Given the description of an element on the screen output the (x, y) to click on. 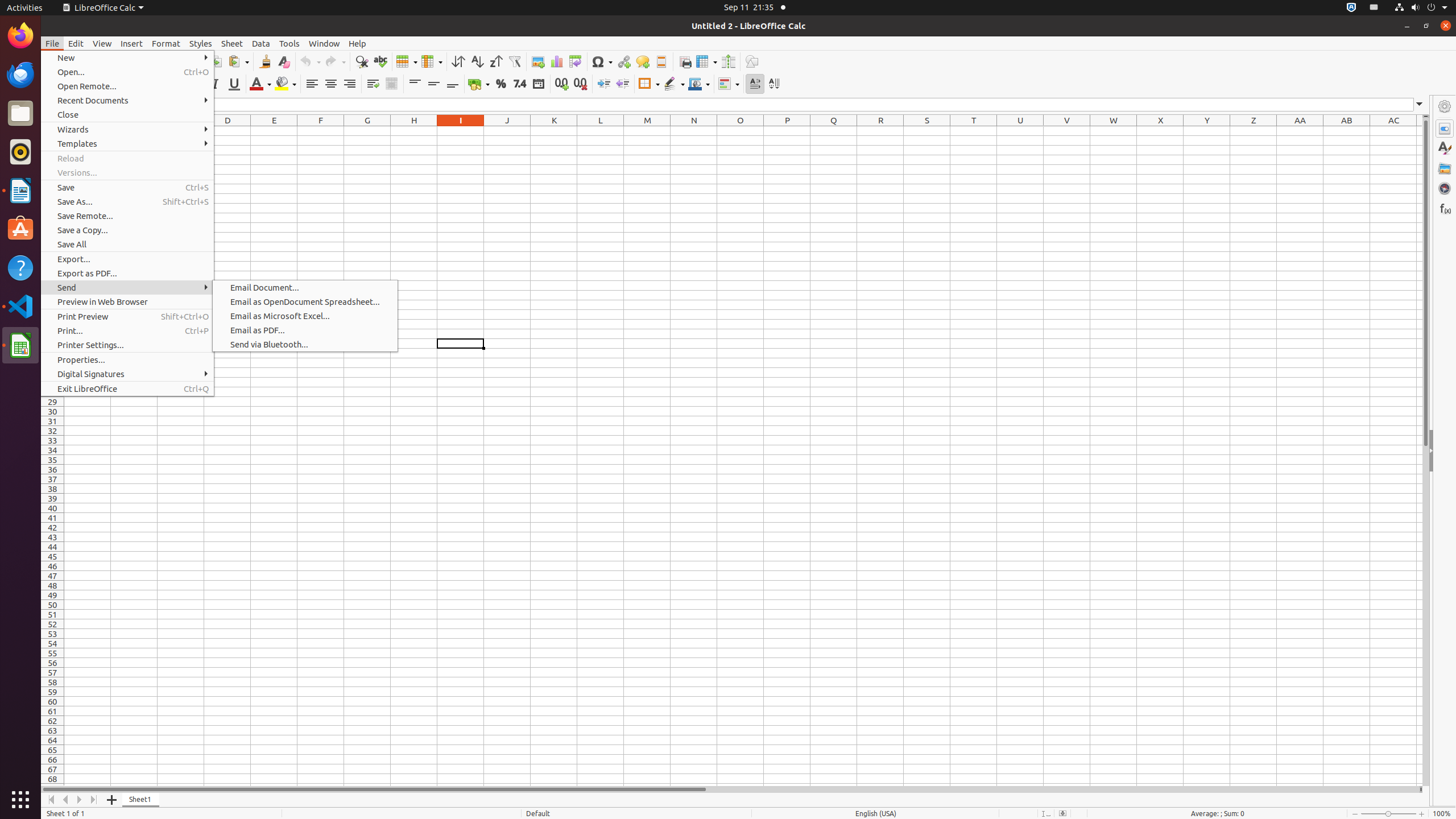
Window Element type: menu (324, 43)
V1 Element type: table-cell (1066, 130)
AA1 Element type: table-cell (1299, 130)
